Given the description of an element on the screen output the (x, y) to click on. 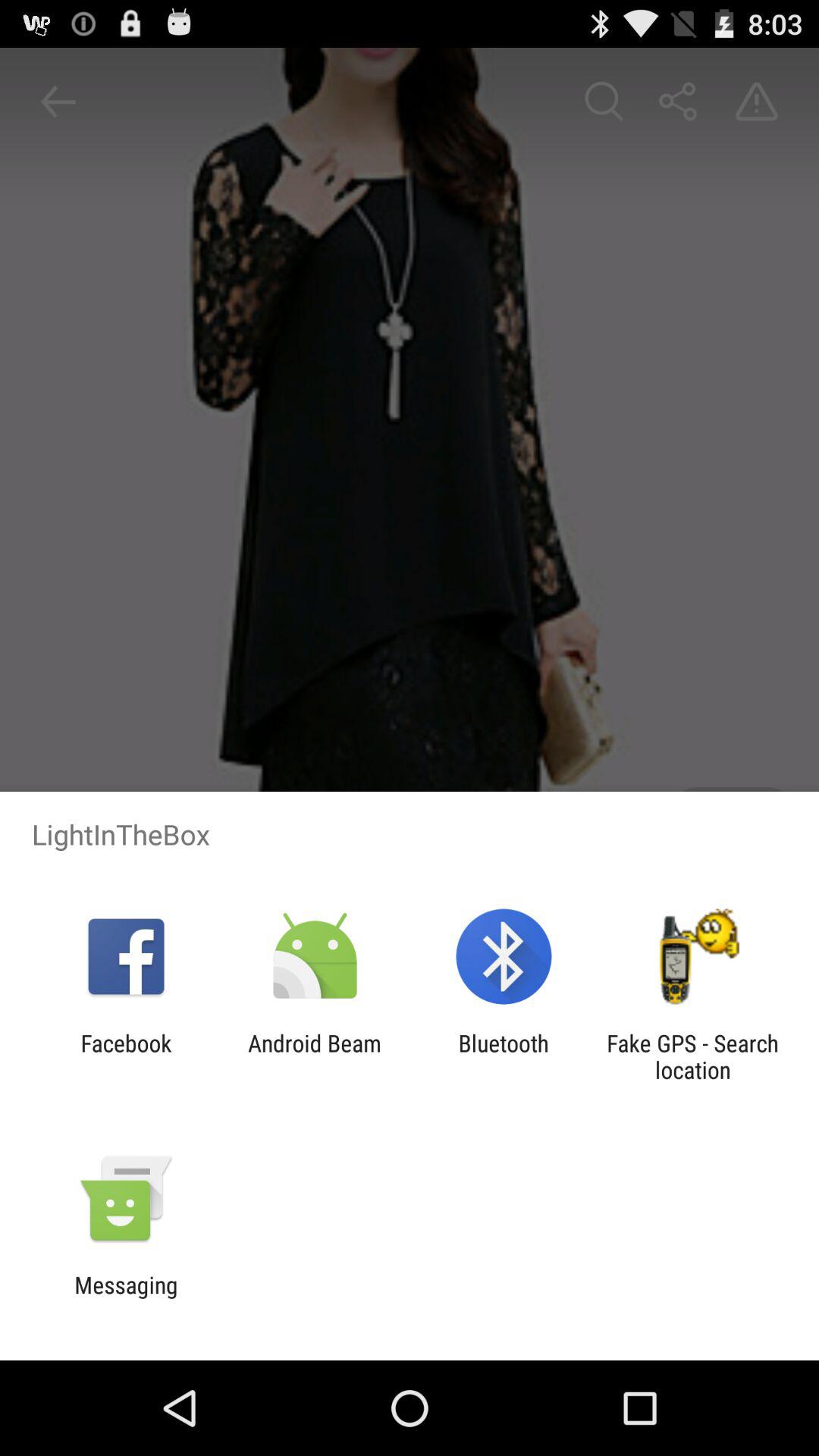
tap the item next to bluetooth (314, 1056)
